Given the description of an element on the screen output the (x, y) to click on. 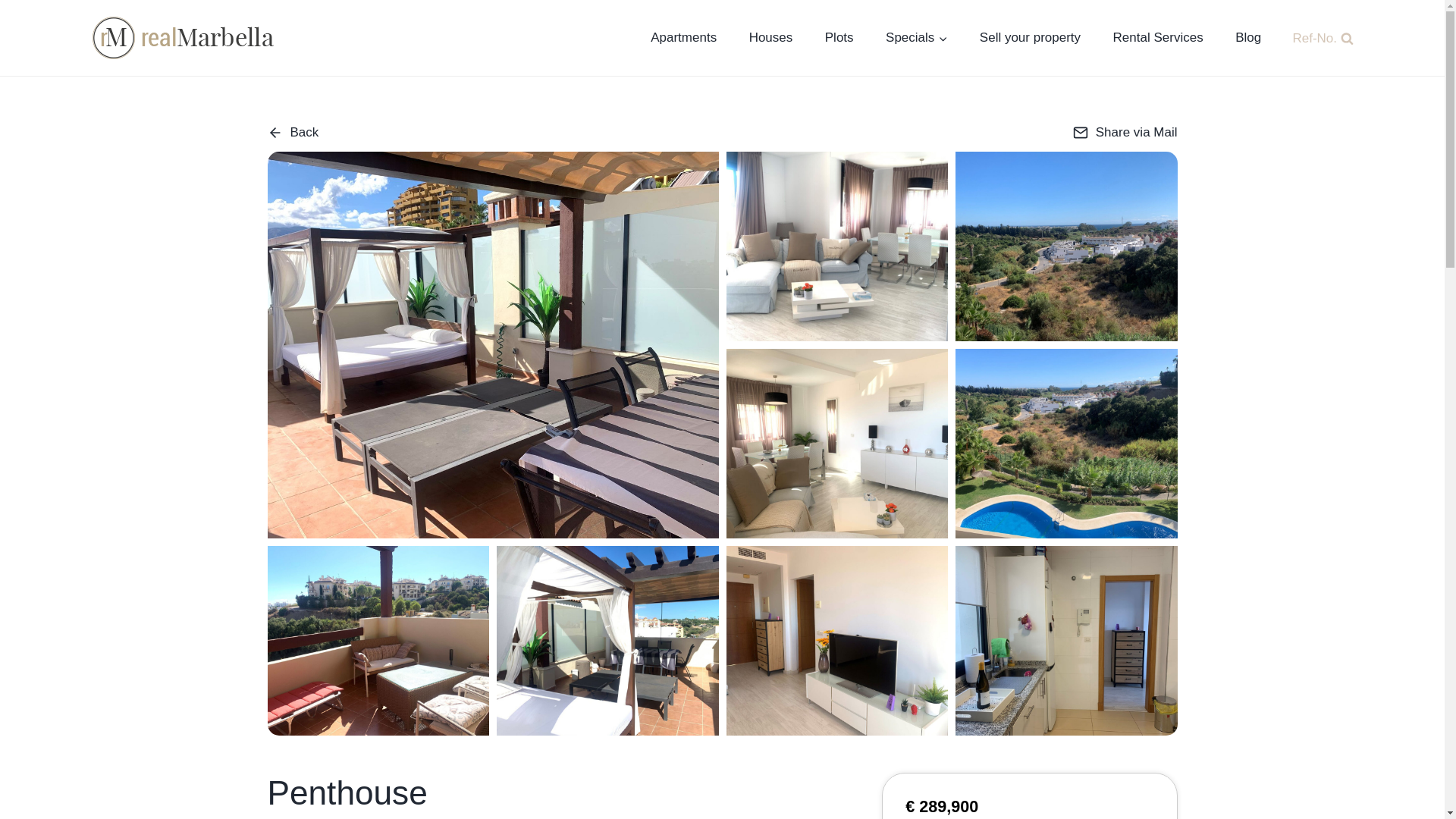
Ref-No. (1319, 37)
Blog (1249, 37)
Houses (770, 37)
Rental Services (1158, 37)
Sell your property (1030, 37)
Plots (839, 37)
Share via Mail (1125, 133)
Back (292, 133)
Apartments (683, 37)
Specials (916, 37)
